Given the description of an element on the screen output the (x, y) to click on. 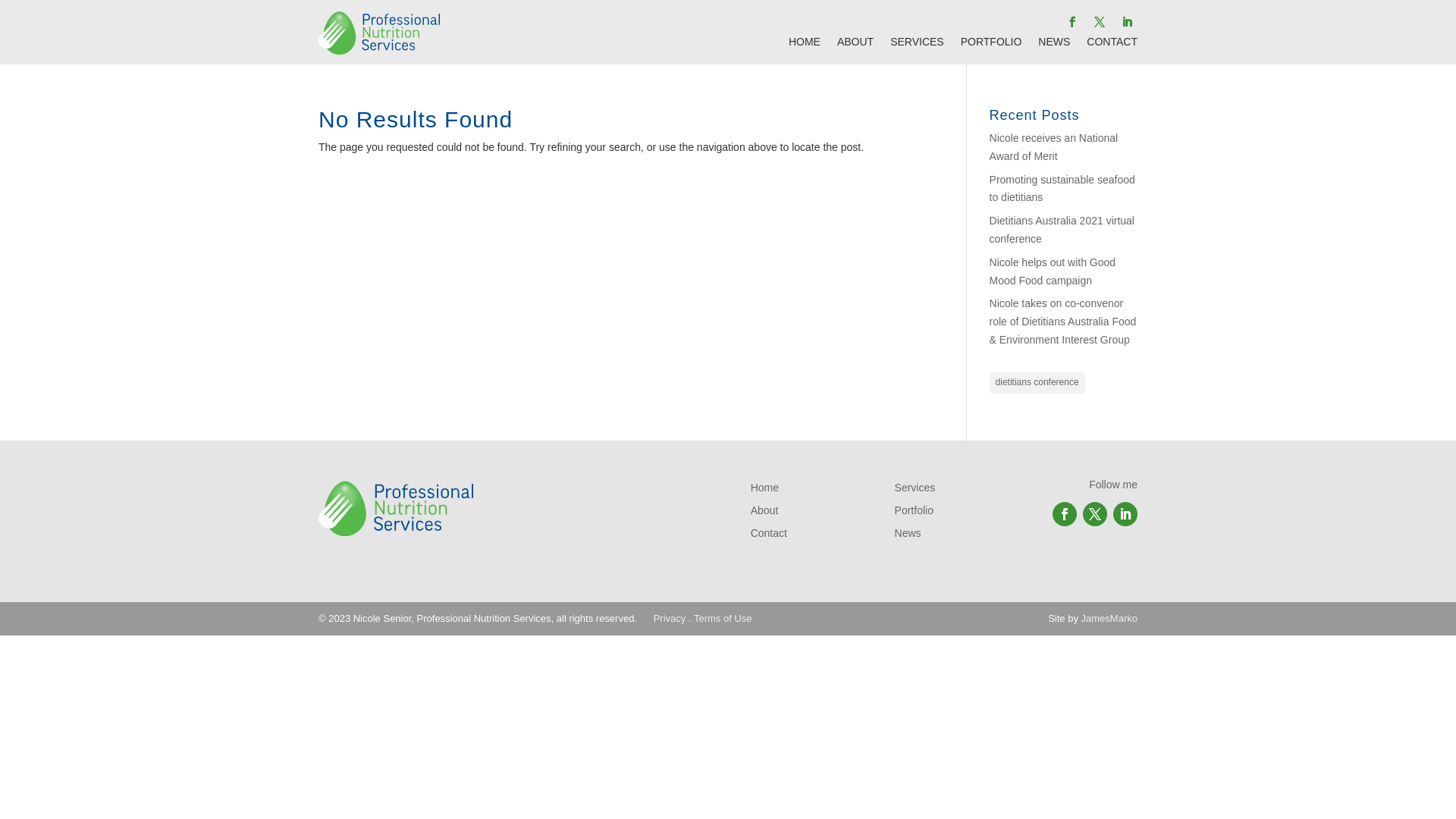
Follow on LinkedIn Element type: hover (1126, 21)
Promoting sustainable seafood to dietitians Element type: text (1062, 188)
Services Element type: text (914, 490)
ABOUT Element type: text (855, 44)
Follow on X Element type: hover (1094, 514)
logo Element type: hover (378, 30)
News Element type: text (907, 535)
PORTFOLIO Element type: text (991, 44)
NEWS Element type: text (1054, 44)
Follow on X Element type: hover (1099, 21)
Dietitians Australia 2021 virtual conference Element type: text (1061, 229)
Nicole helps out with Good Mood Food campaign Element type: text (1052, 271)
Terms of Use Element type: text (722, 618)
Nicole receives an National Award of Merit Element type: text (1053, 146)
Privacy Element type: text (669, 618)
JamesMarko Element type: text (1109, 618)
SERVICES Element type: text (917, 44)
Follow on LinkedIn Element type: hover (1125, 514)
Home Element type: text (764, 490)
Follow on Facebook Element type: hover (1071, 21)
About Element type: text (764, 513)
CONTACT Element type: text (1111, 44)
Contact Element type: text (768, 535)
HOME Element type: text (804, 44)
Portfolio Element type: text (913, 513)
logo Element type: hover (395, 506)
Follow on Facebook Element type: hover (1064, 514)
dietitians conference Element type: text (1037, 382)
